Given the description of an element on the screen output the (x, y) to click on. 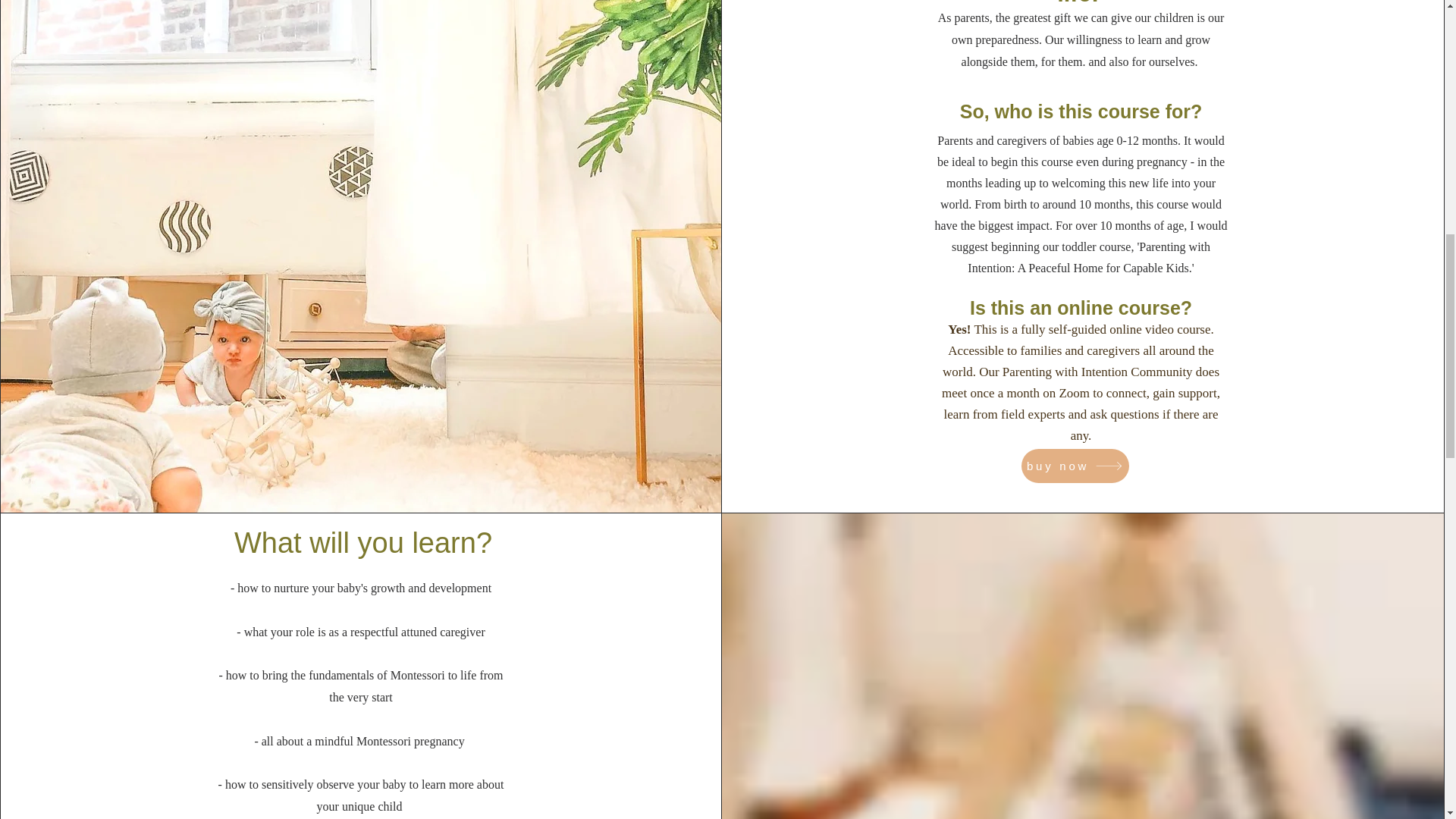
buy now (1075, 465)
